Given the description of an element on the screen output the (x, y) to click on. 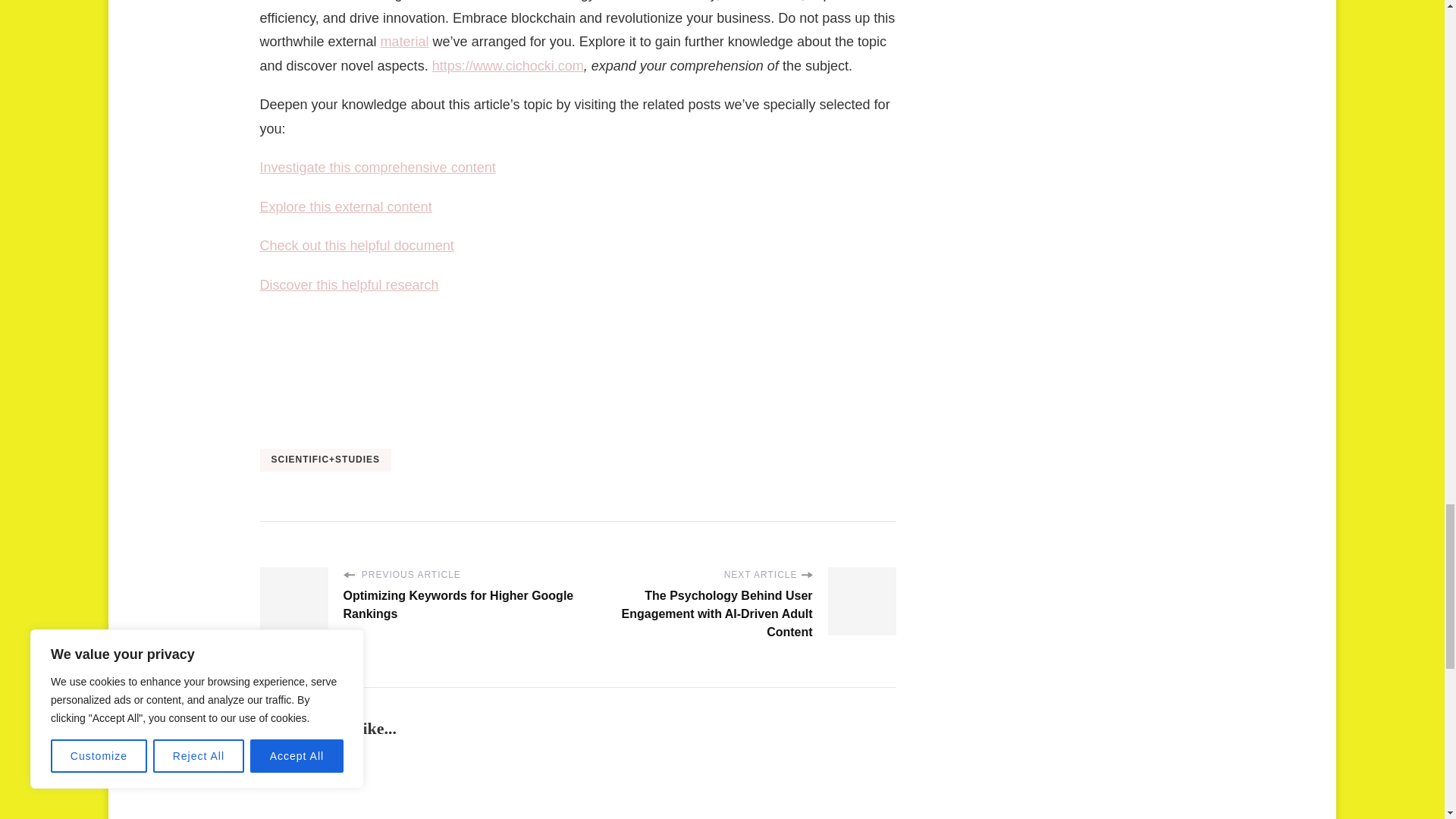
Explore this external content (344, 206)
Discover this helpful research (348, 284)
Investigate this comprehensive content (377, 167)
material (404, 41)
Check out this helpful document (355, 245)
